Given the description of an element on the screen output the (x, y) to click on. 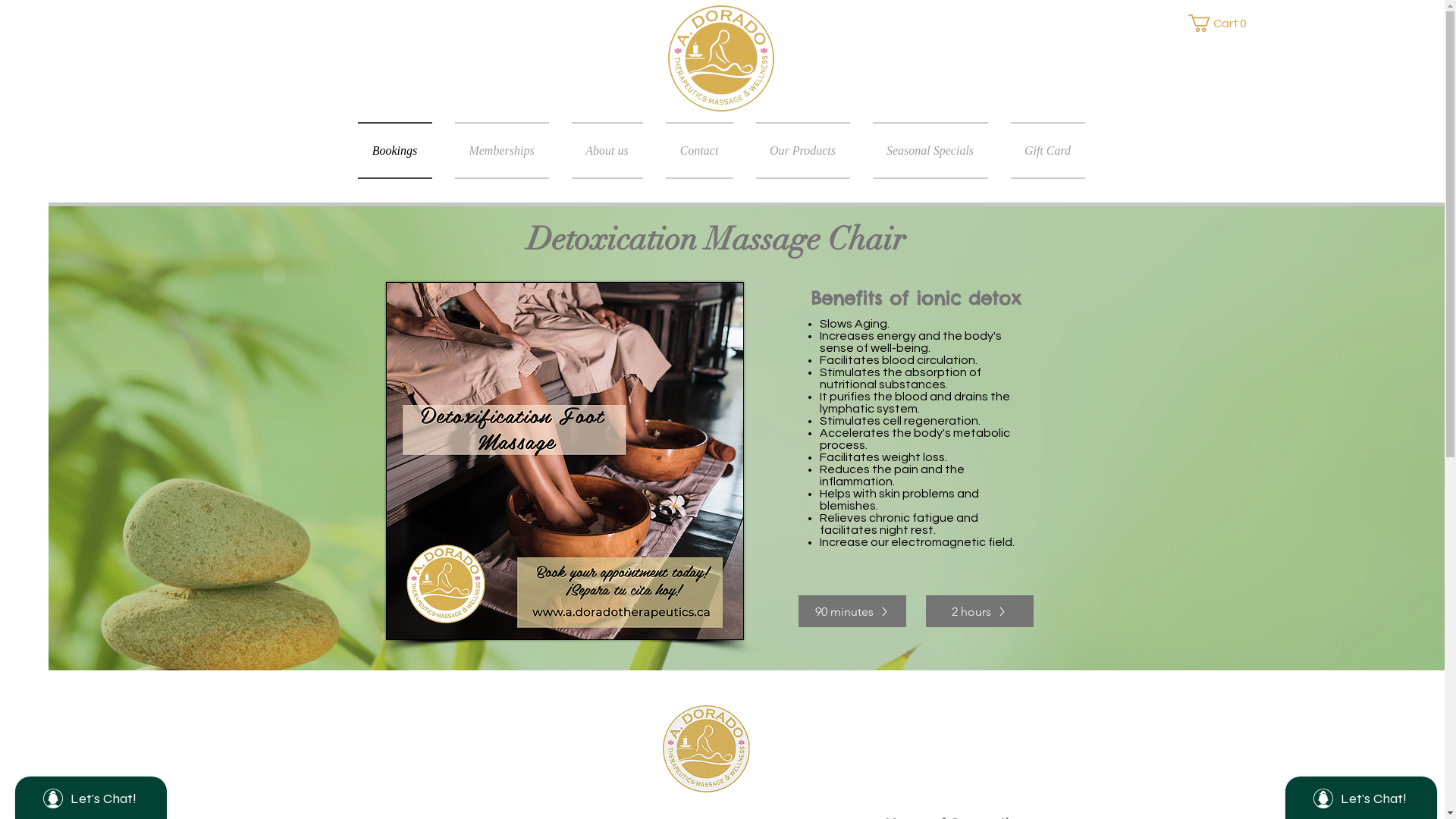
90 minutes Element type: text (851, 611)
Gift Card Element type: text (1042, 150)
Cart
0 Element type: text (1219, 22)
2 hours Element type: text (978, 611)
Seasonal Specials Element type: text (930, 150)
Memberships Element type: text (500, 150)
Bookings Element type: text (400, 150)
Our Products Element type: text (802, 150)
Contact Element type: text (698, 150)
About us Element type: text (606, 150)
